Given the description of an element on the screen output the (x, y) to click on. 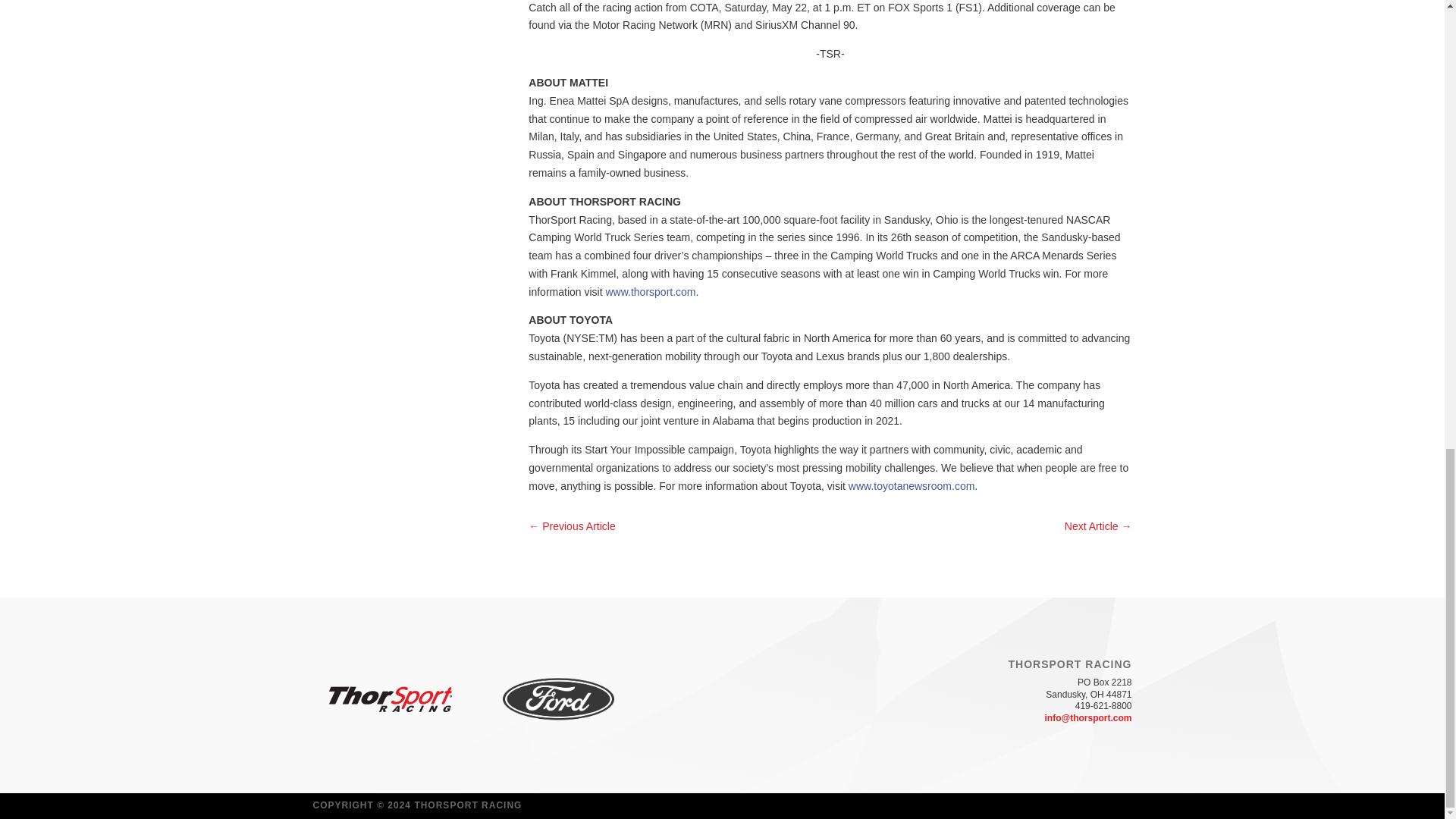
thorsport-racing (390, 699)
